Given the description of an element on the screen output the (x, y) to click on. 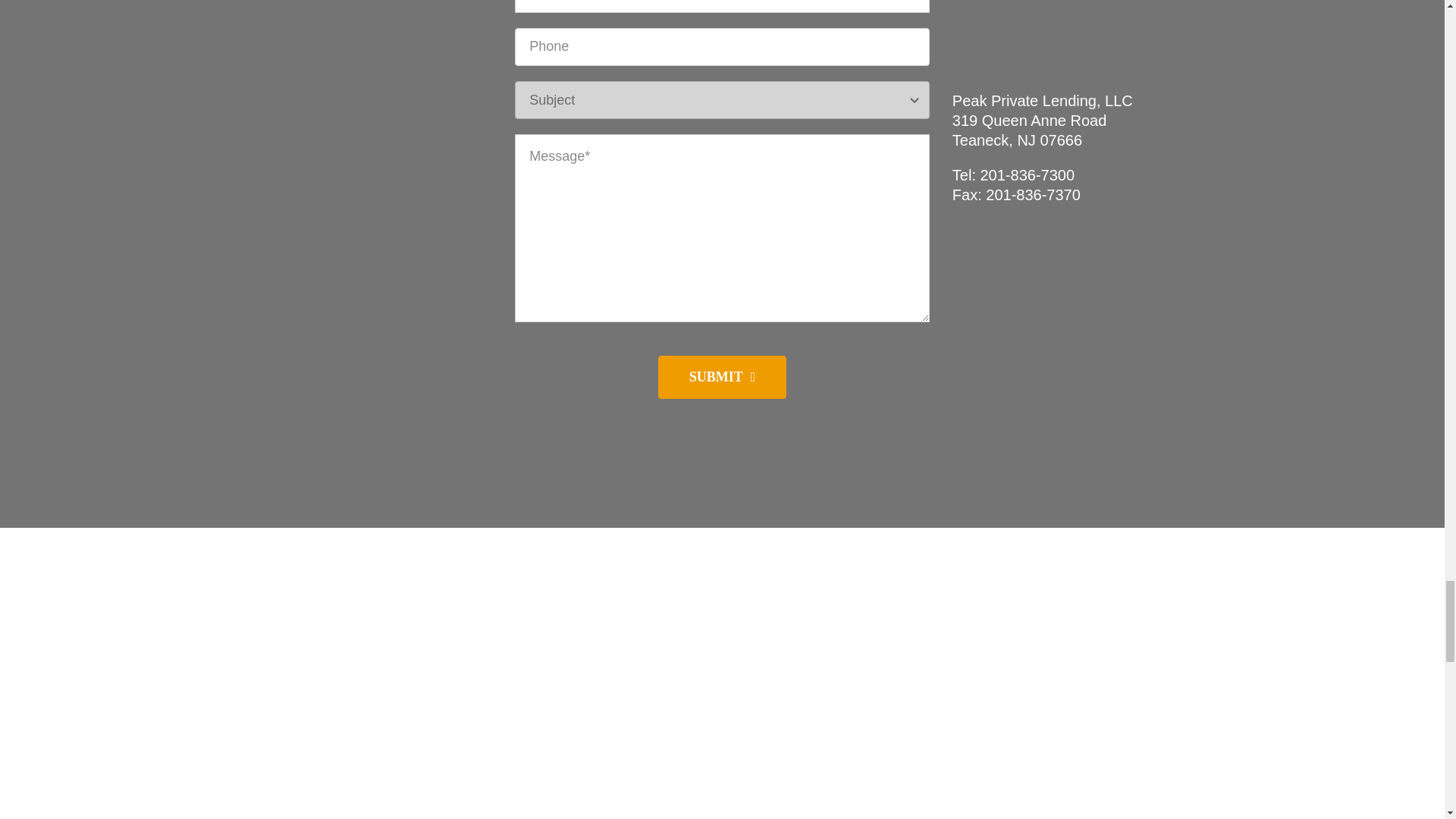
Only numbers and phone characters are accepted. (722, 46)
